Given the description of an element on the screen output the (x, y) to click on. 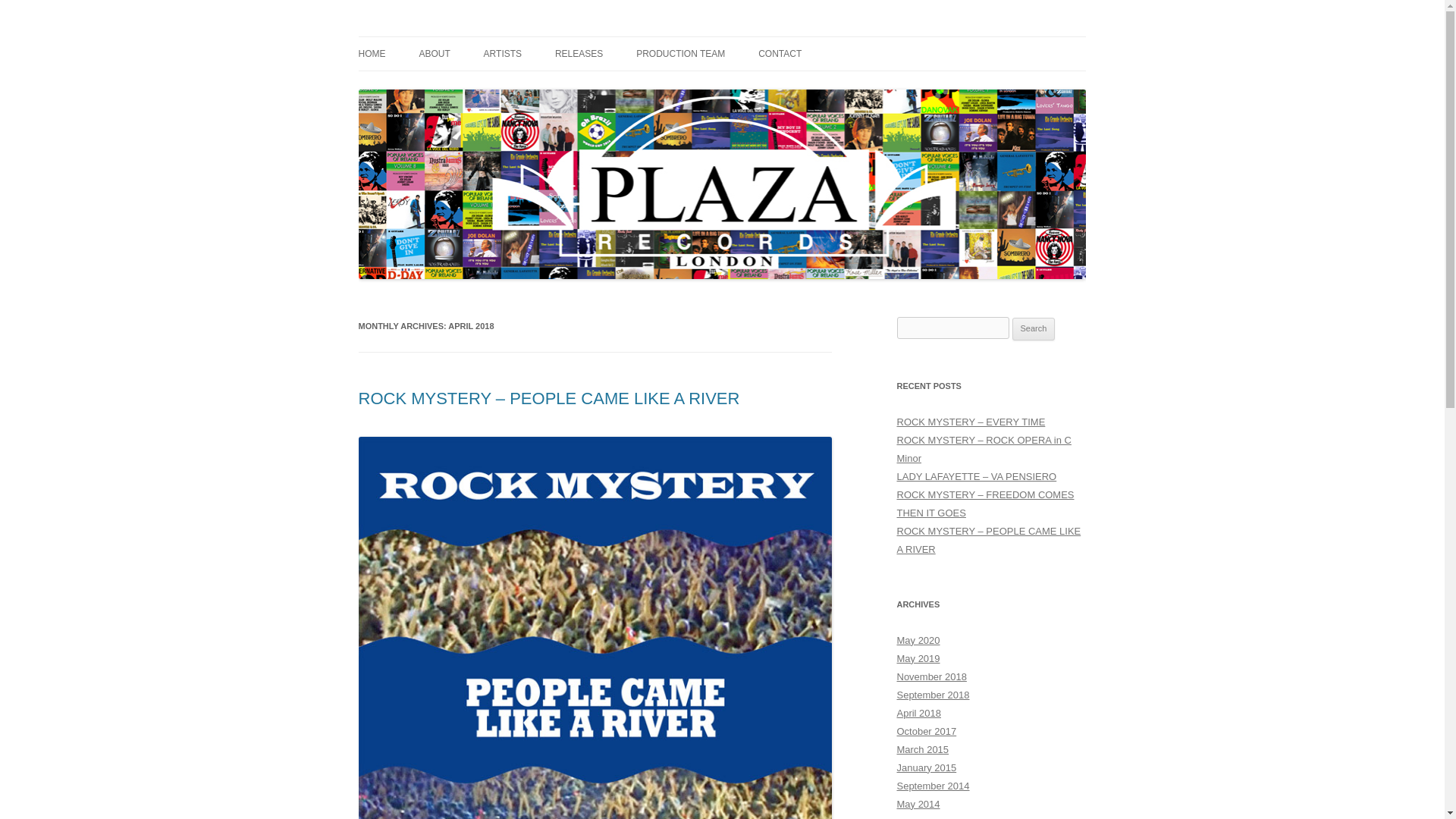
May 2019 (917, 658)
Plaza Records (425, 36)
PRODUCTION TEAM (680, 53)
November 2018 (931, 676)
Search (1033, 328)
Skip to content (757, 41)
RELEASES (578, 53)
Search (1033, 328)
CONTACT (780, 53)
ARTISTS (502, 53)
